Given the description of an element on the screen output the (x, y) to click on. 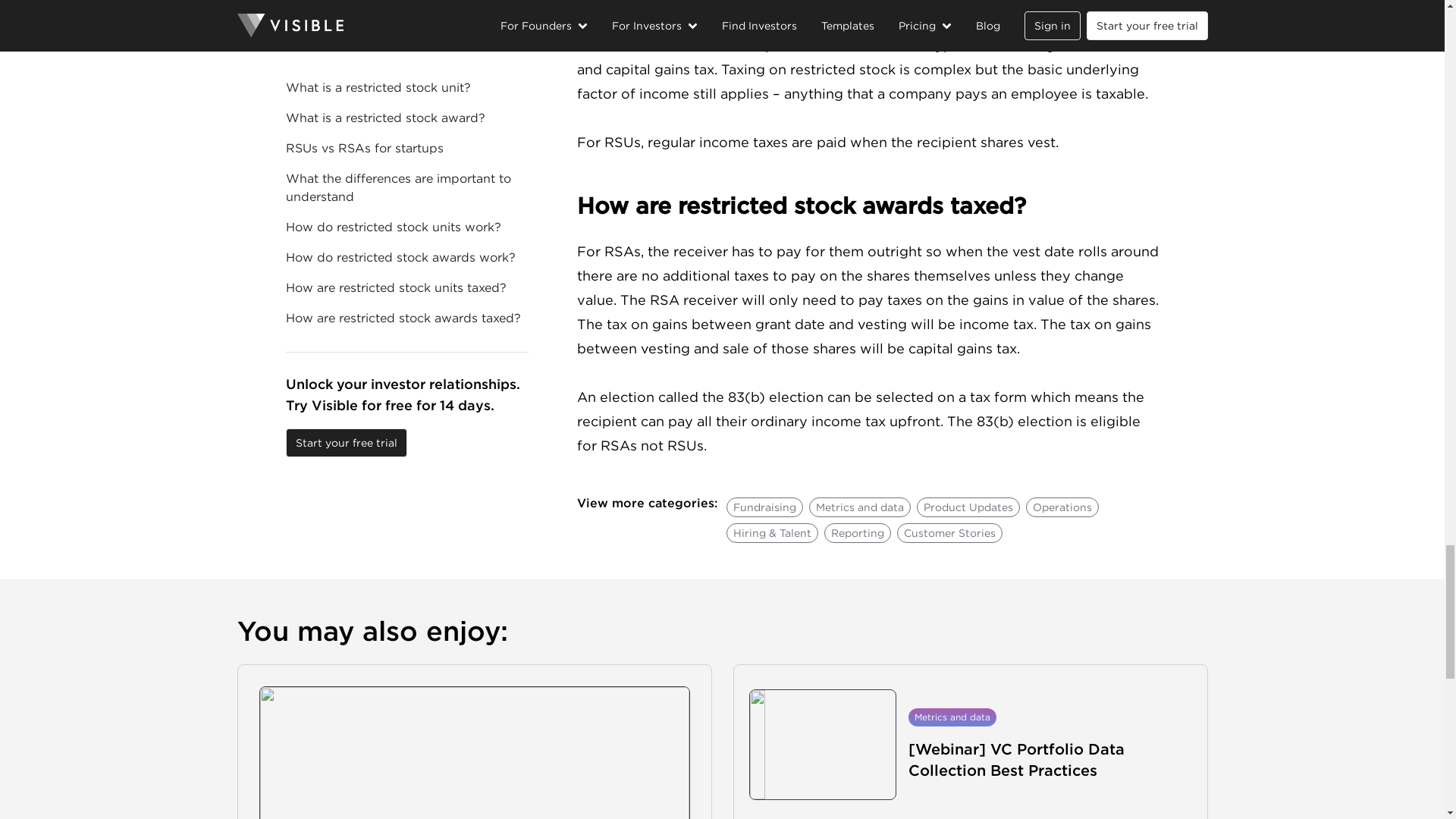
How are restricted stock awards taxed? (867, 205)
How are restricted stock units taxed? (867, 7)
